Given the description of an element on the screen output the (x, y) to click on. 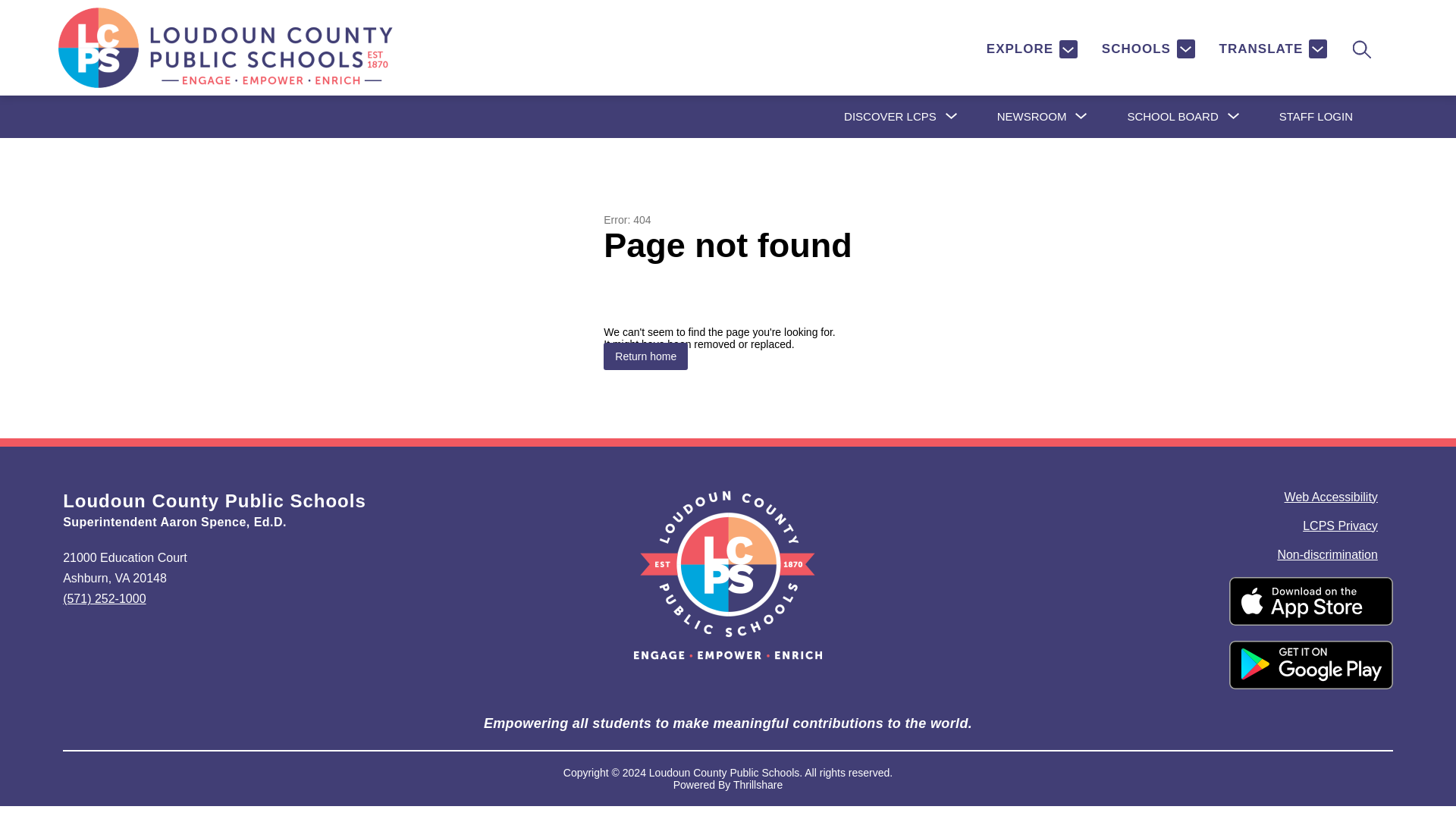
TRANSLATE (1273, 48)
SCHOOLS (1148, 48)
EXPLORE (1032, 48)
SEARCH (1361, 48)
